Given the description of an element on the screen output the (x, y) to click on. 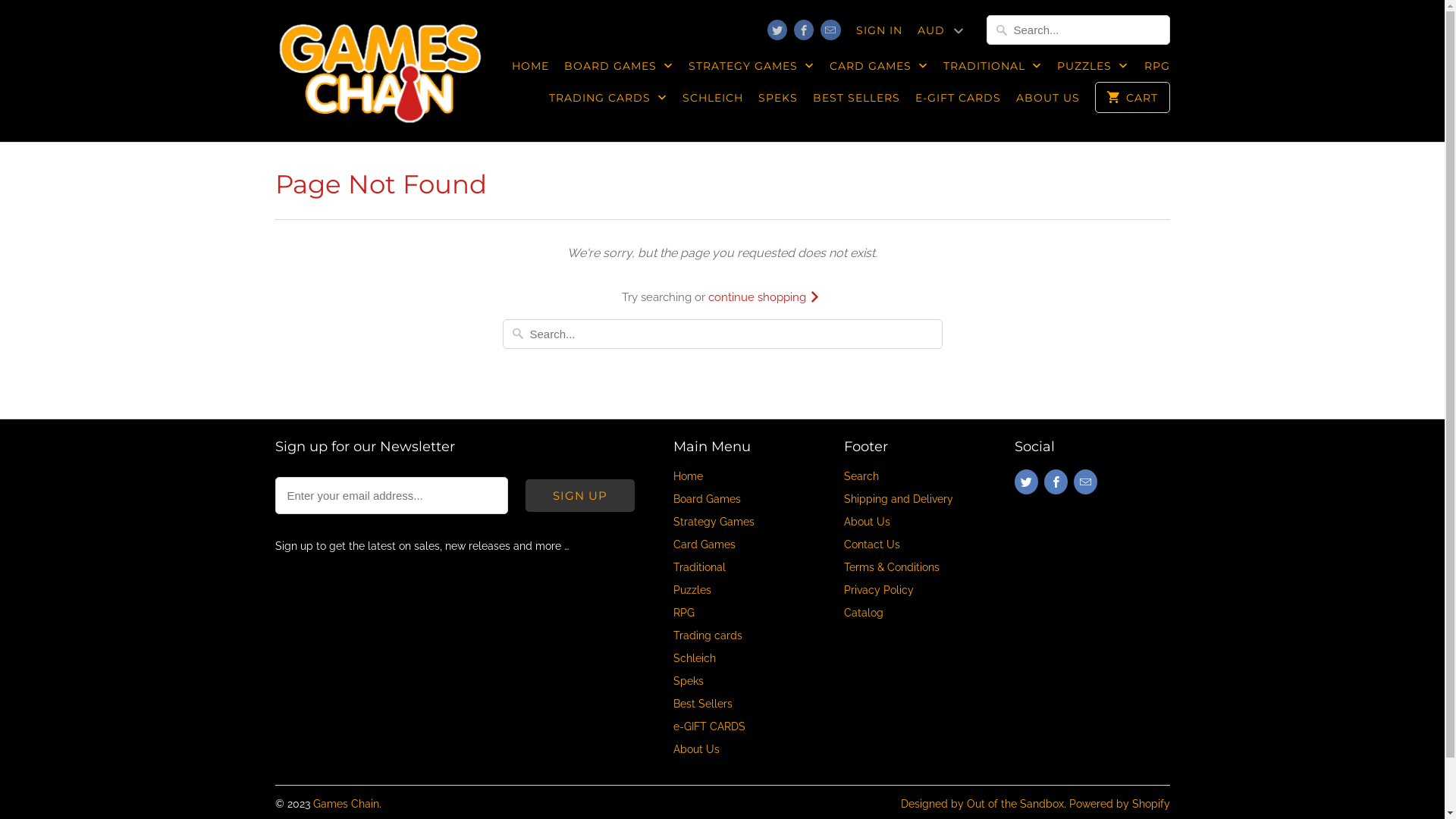
continue shopping Element type: text (765, 296)
SIGN IN Element type: text (878, 33)
RPG Element type: text (683, 612)
Games Chain Element type: text (345, 803)
Trading cards Element type: text (707, 635)
Email Games Chain Element type: hover (830, 29)
STRATEGY GAMES Element type: text (751, 70)
e-GIFT CARDS Element type: text (709, 726)
BEST SELLERS Element type: text (856, 101)
Schleich Element type: text (694, 658)
Sign Up Element type: text (579, 495)
Games Chain on Facebook Element type: hover (803, 29)
Search Element type: text (860, 476)
About Us Element type: text (696, 749)
Speks Element type: text (688, 680)
Puzzles Element type: text (692, 589)
Games Chain Element type: hover (380, 70)
Strategy Games Element type: text (713, 521)
SPEKS Element type: text (777, 101)
SCHLEICH Element type: text (712, 101)
Privacy Policy Element type: text (878, 589)
BOARD GAMES Element type: text (618, 70)
CART Element type: text (1132, 96)
Contact Us Element type: text (871, 544)
Catalog Element type: text (862, 612)
E-GIFT CARDS Element type: text (958, 101)
Terms & Conditions Element type: text (890, 567)
Best Sellers Element type: text (702, 703)
TRADING CARDS Element type: text (608, 102)
ABOUT US Element type: text (1047, 101)
About Us Element type: text (866, 521)
Email Games Chain Element type: hover (1085, 481)
PUZZLES Element type: text (1092, 70)
Games Chain on Facebook Element type: hover (1055, 481)
TRADITIONAL Element type: text (992, 70)
Board Games Element type: text (706, 498)
Powered by Shopify Element type: text (1119, 803)
RPG Element type: text (1156, 69)
Card Games Element type: text (704, 544)
HOME Element type: text (530, 69)
CARD GAMES Element type: text (878, 70)
Games Chain on Twitter Element type: hover (777, 29)
Games Chain on Twitter Element type: hover (1026, 481)
Shipping and Delivery Element type: text (897, 498)
Traditional Element type: text (699, 567)
Designed by Out of the Sandbox Element type: text (981, 803)
Home Element type: text (687, 476)
